Given the description of an element on the screen output the (x, y) to click on. 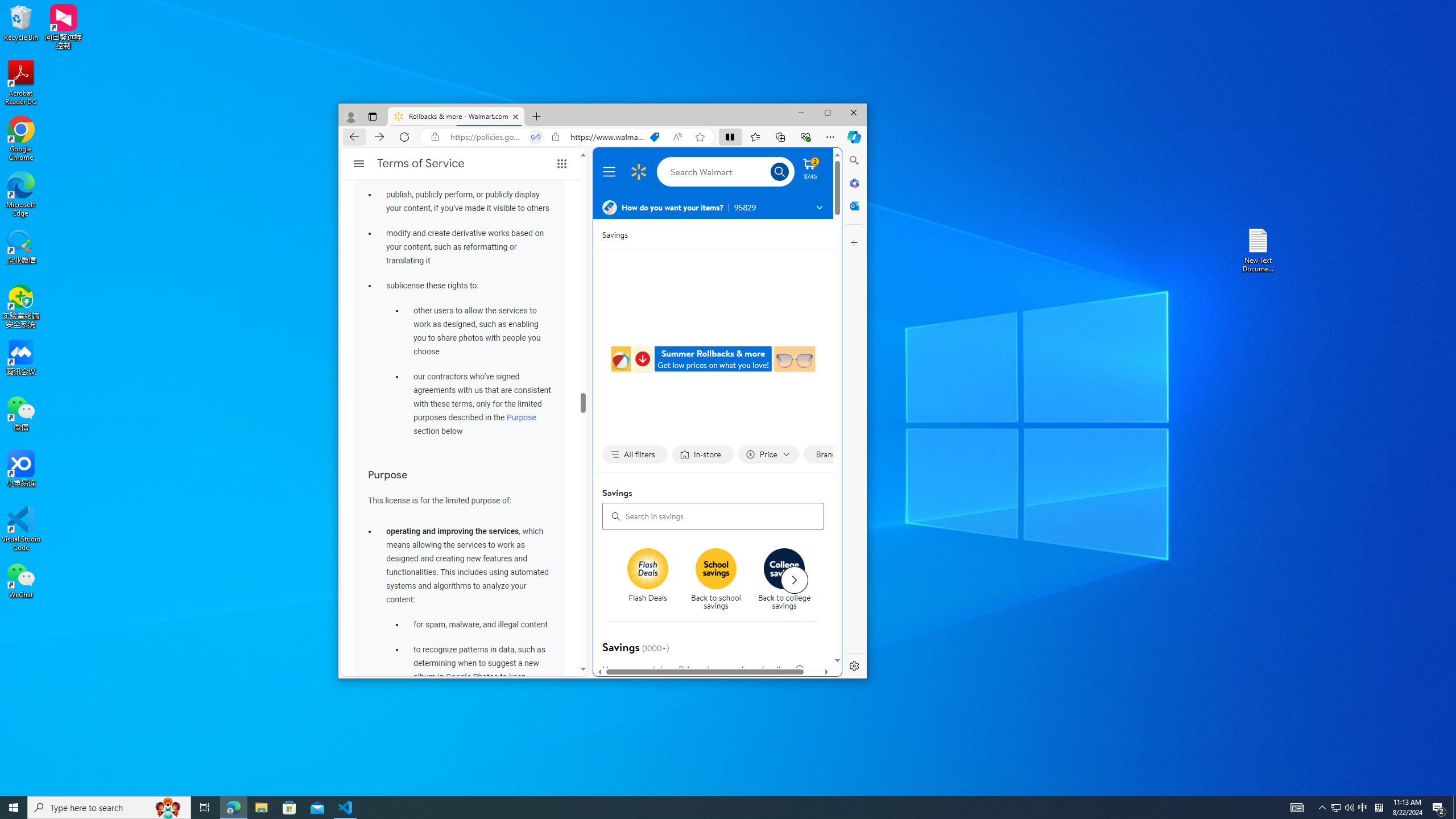
Flash deals Flash Deals (647, 575)
Recycle Bin (21, 22)
Flash deals (647, 568)
Next slide for chipModuleWithImages list (794, 580)
Google Chrome (21, 138)
Rollbacks & more - Walmart.com (455, 116)
Walmart Homepage (637, 171)
Summer Rollbacks & more Get low prices on what you love! (712, 358)
